Given the description of an element on the screen output the (x, y) to click on. 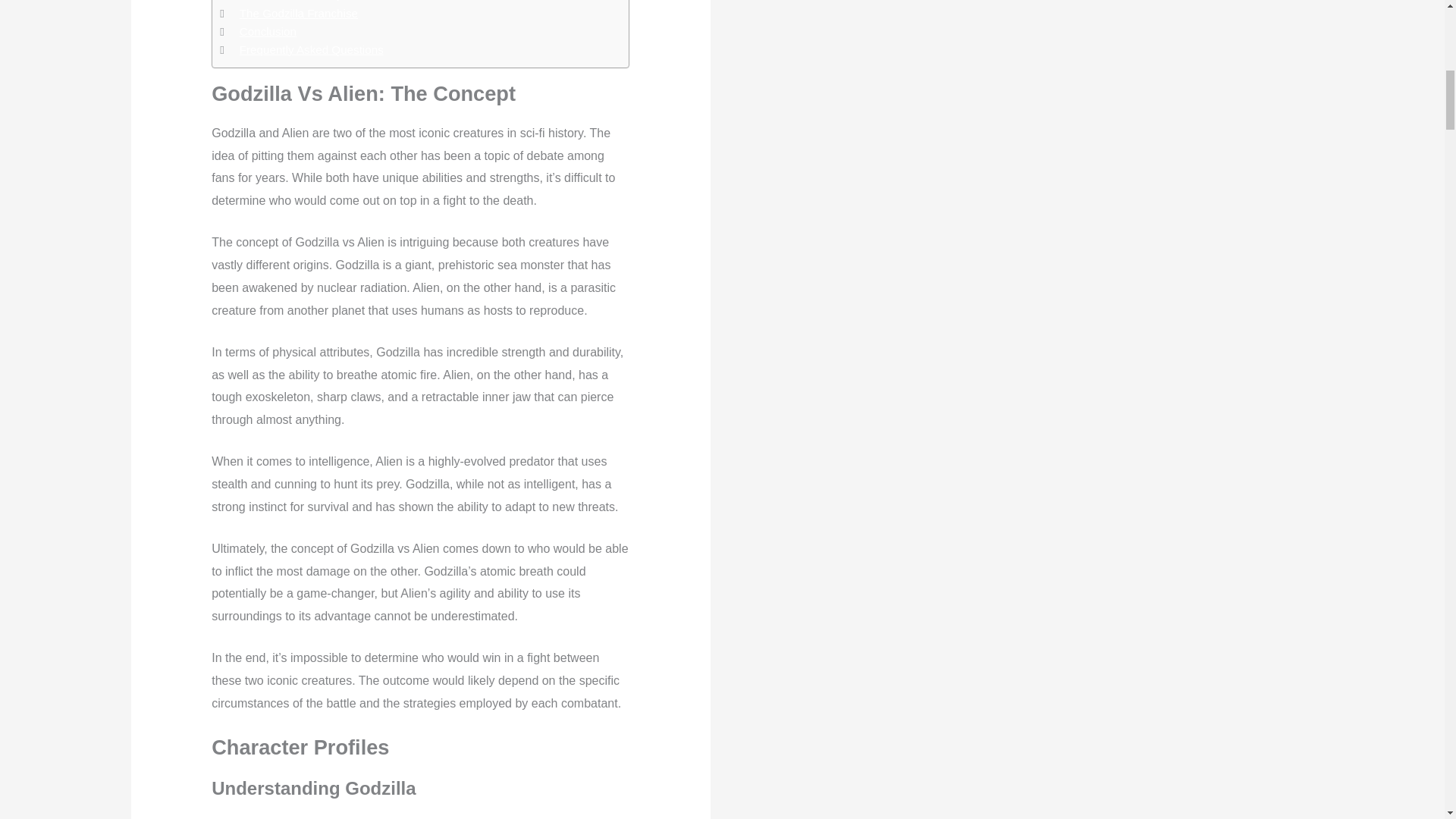
Frequently Asked Questions (312, 49)
Frequently Asked Questions (312, 49)
Conclusion (268, 31)
Conclusion (268, 31)
Research and Analysis (298, 2)
The Godzilla Franchise (299, 13)
The Godzilla Franchise (299, 13)
Research and Analysis (298, 2)
